Given the description of an element on the screen output the (x, y) to click on. 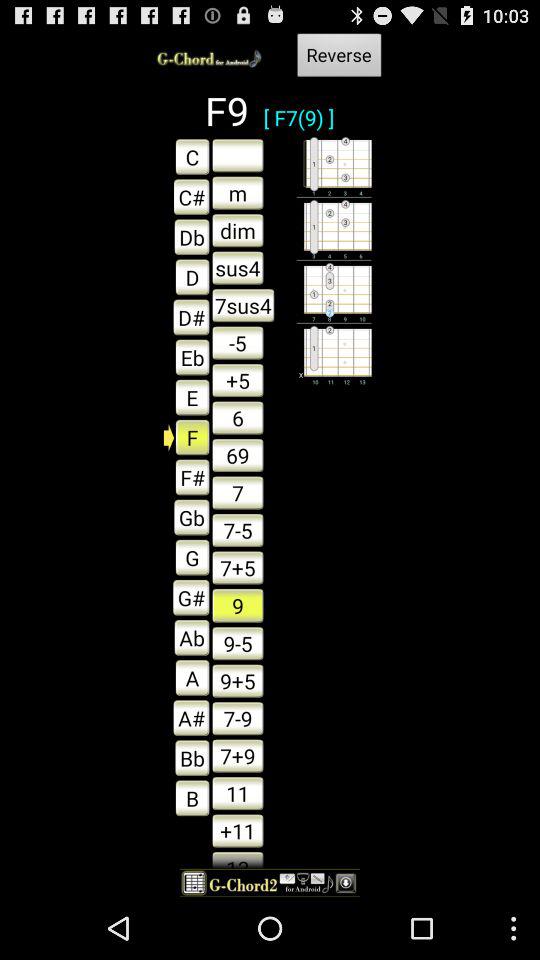
open the icon below g# (186, 637)
